Given the description of an element on the screen output the (x, y) to click on. 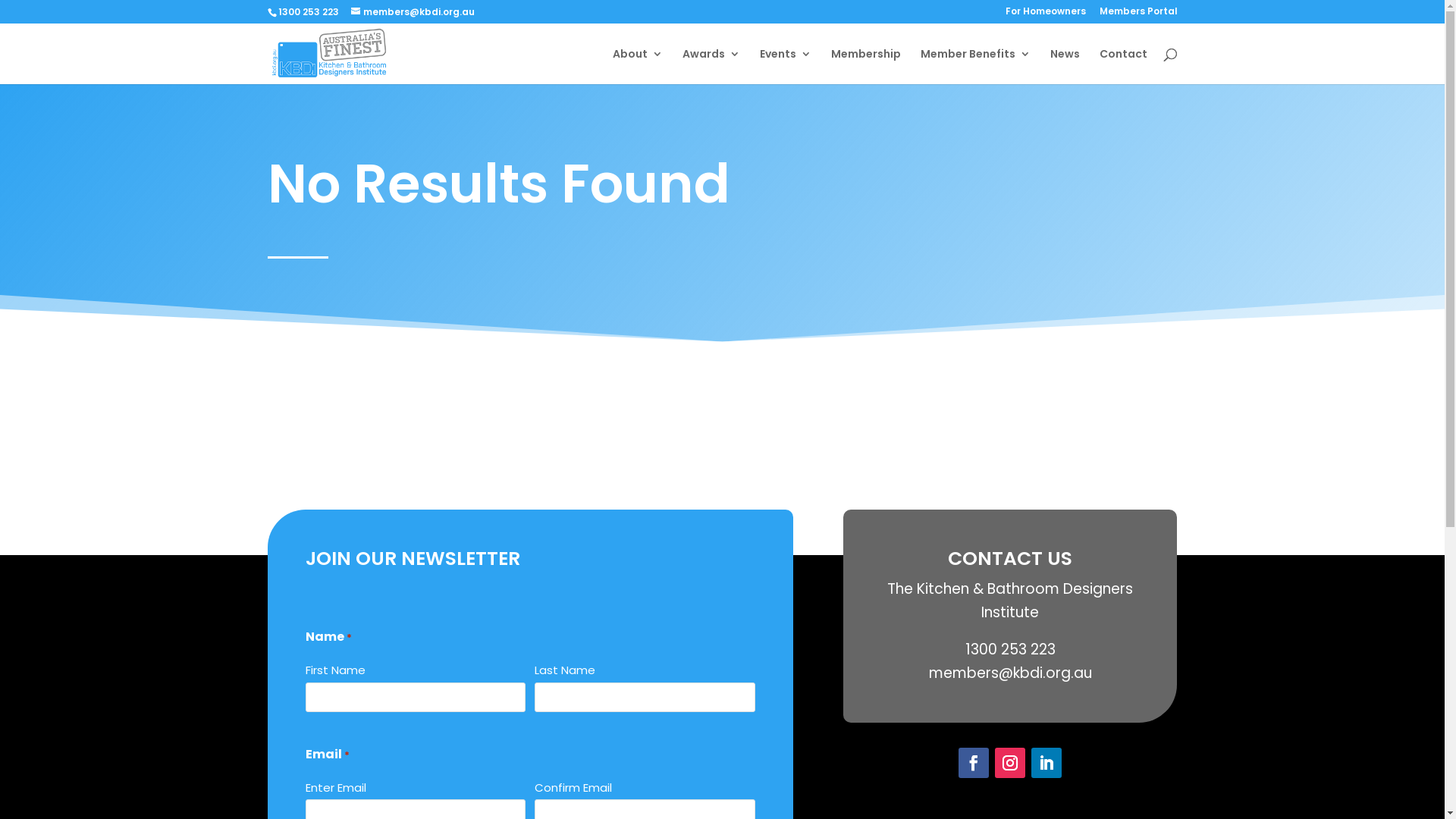
Membership Element type: text (865, 66)
Follow on Instagram Element type: hover (1009, 762)
About Element type: text (637, 66)
1300 253 223 Element type: text (307, 11)
Contact Element type: text (1123, 66)
Awards Element type: text (711, 66)
members@kbdi.org.au Element type: text (411, 11)
Events Element type: text (785, 66)
Follow on LinkedIn Element type: hover (1046, 762)
For Homeowners Element type: text (1045, 14)
Member Benefits Element type: text (975, 66)
Follow on Facebook Element type: hover (973, 762)
News Element type: text (1064, 66)
Members Portal Element type: text (1138, 14)
